Given the description of an element on the screen output the (x, y) to click on. 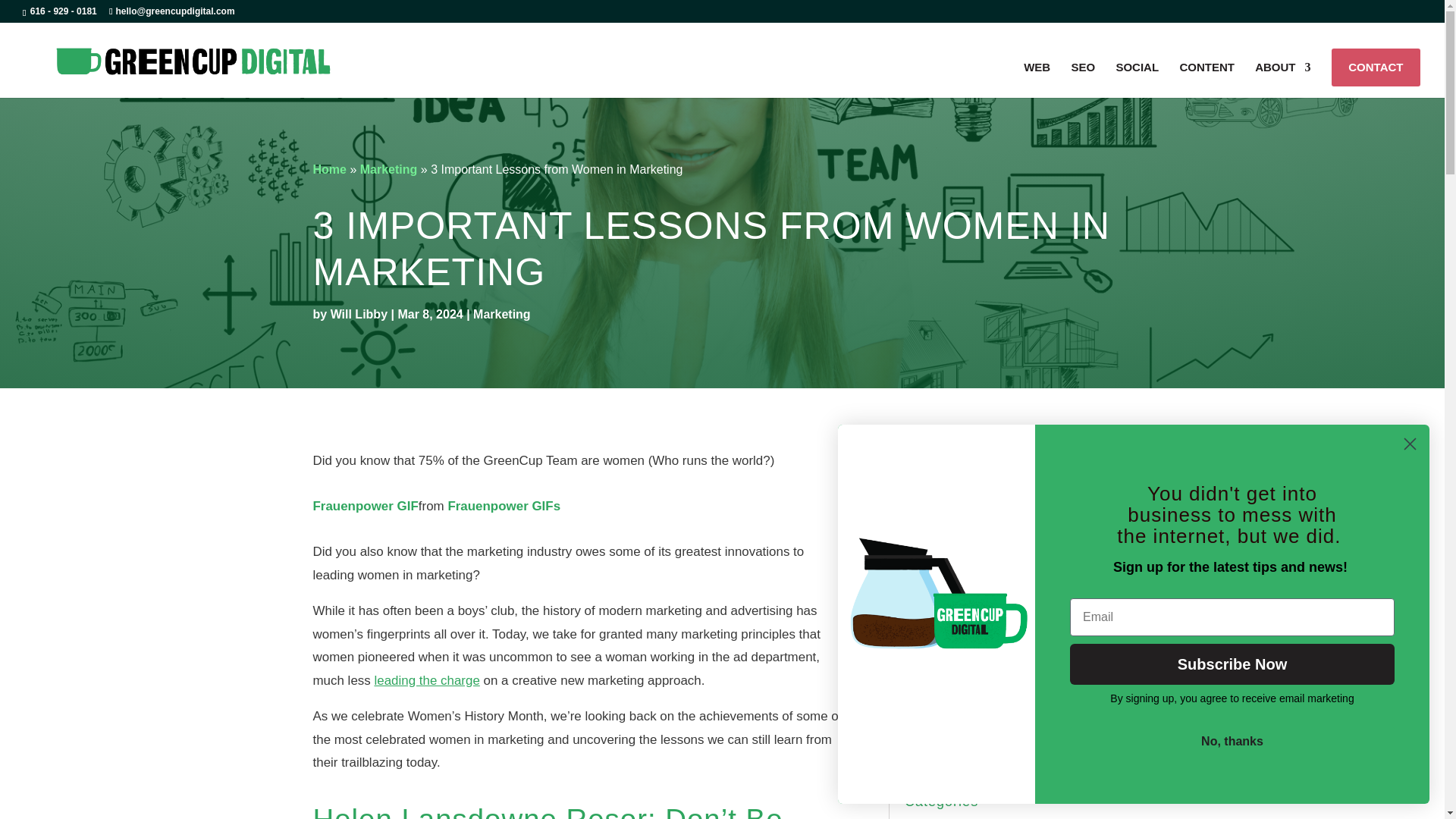
leading the charge (426, 680)
Posts by Will Libby (358, 314)
ABOUT (1282, 79)
Will Libby (358, 314)
CONTENT (1206, 79)
Home (329, 169)
SOCIAL (1136, 79)
CONTACT (1376, 67)
Frauenpower GIF (365, 505)
Marketing (388, 169)
Marketing (388, 169)
Marketing (502, 314)
Frauenpower GIFs (503, 505)
Close dialog 1 (1409, 443)
Home (329, 169)
